Given the description of an element on the screen output the (x, y) to click on. 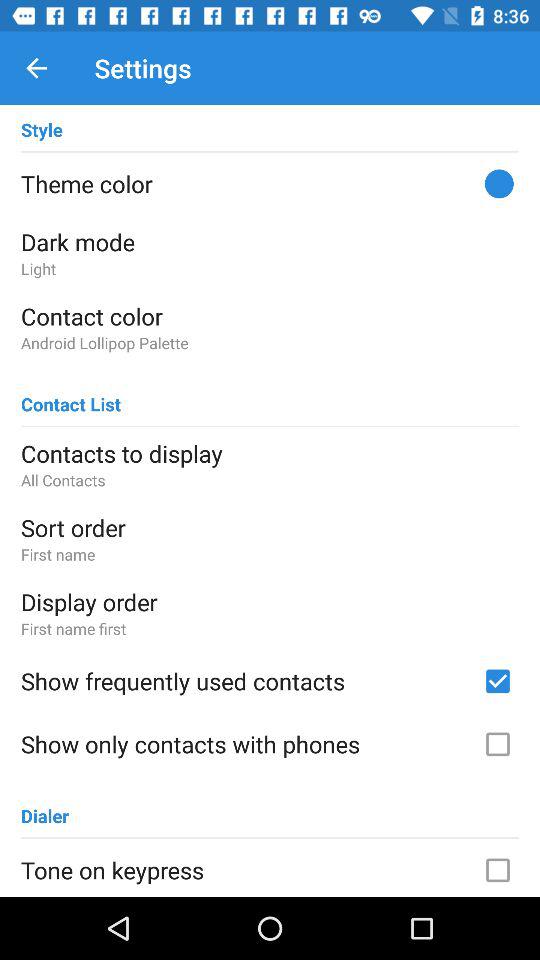
scroll to contact color (270, 316)
